Given the description of an element on the screen output the (x, y) to click on. 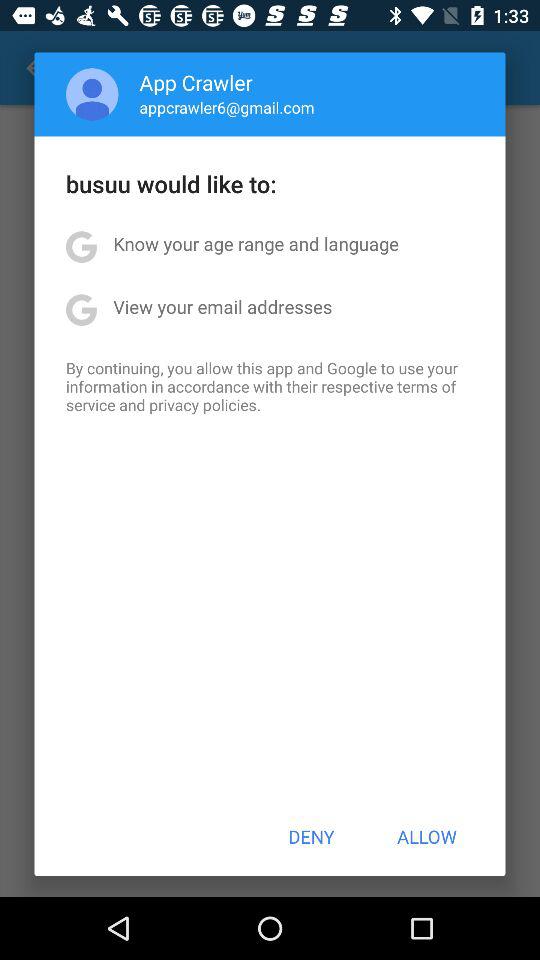
click the view your email app (222, 306)
